Given the description of an element on the screen output the (x, y) to click on. 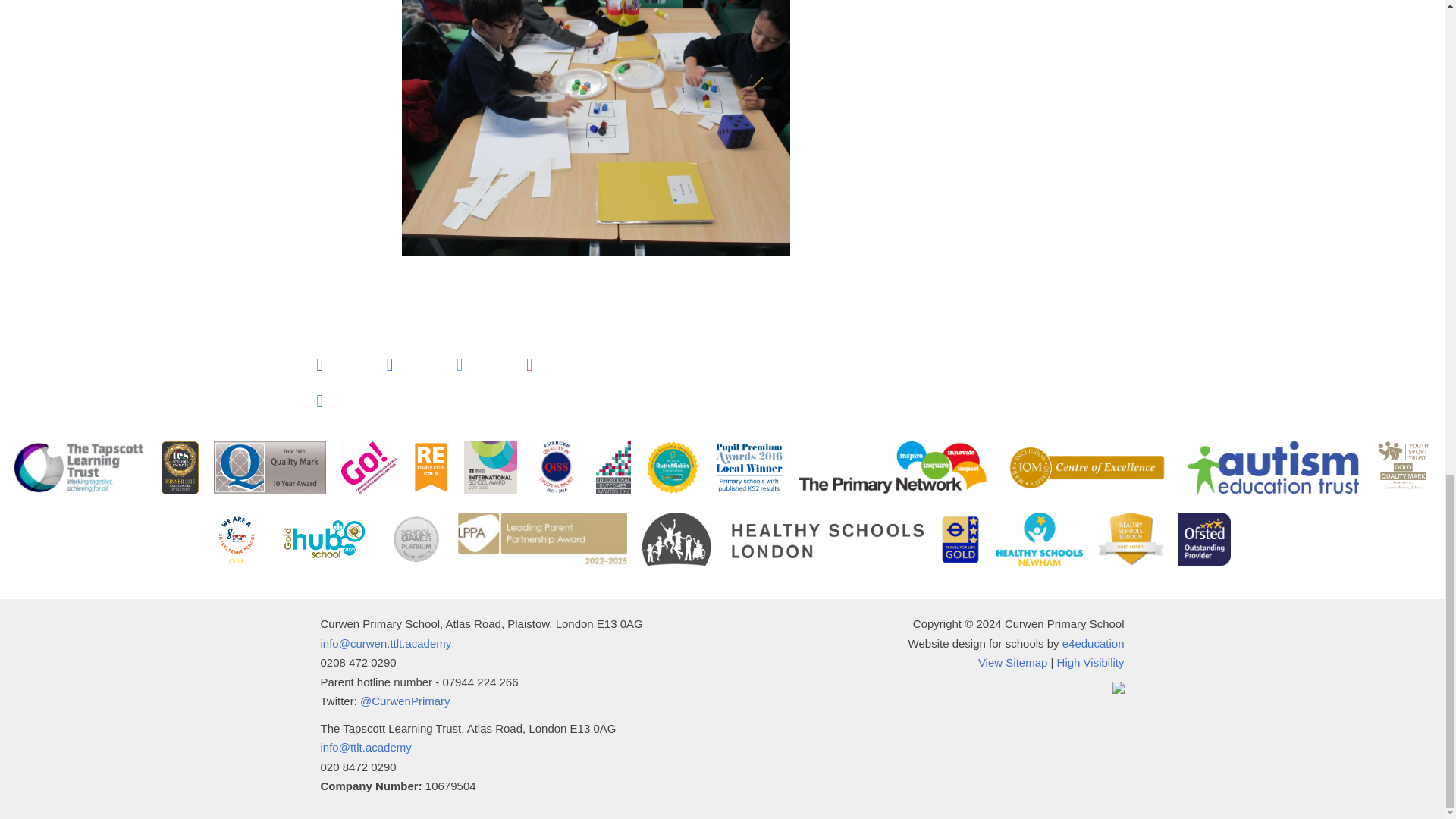
Follow us on Twitter (404, 700)
Email Curwen Primary (385, 643)
